Given the description of an element on the screen output the (x, y) to click on. 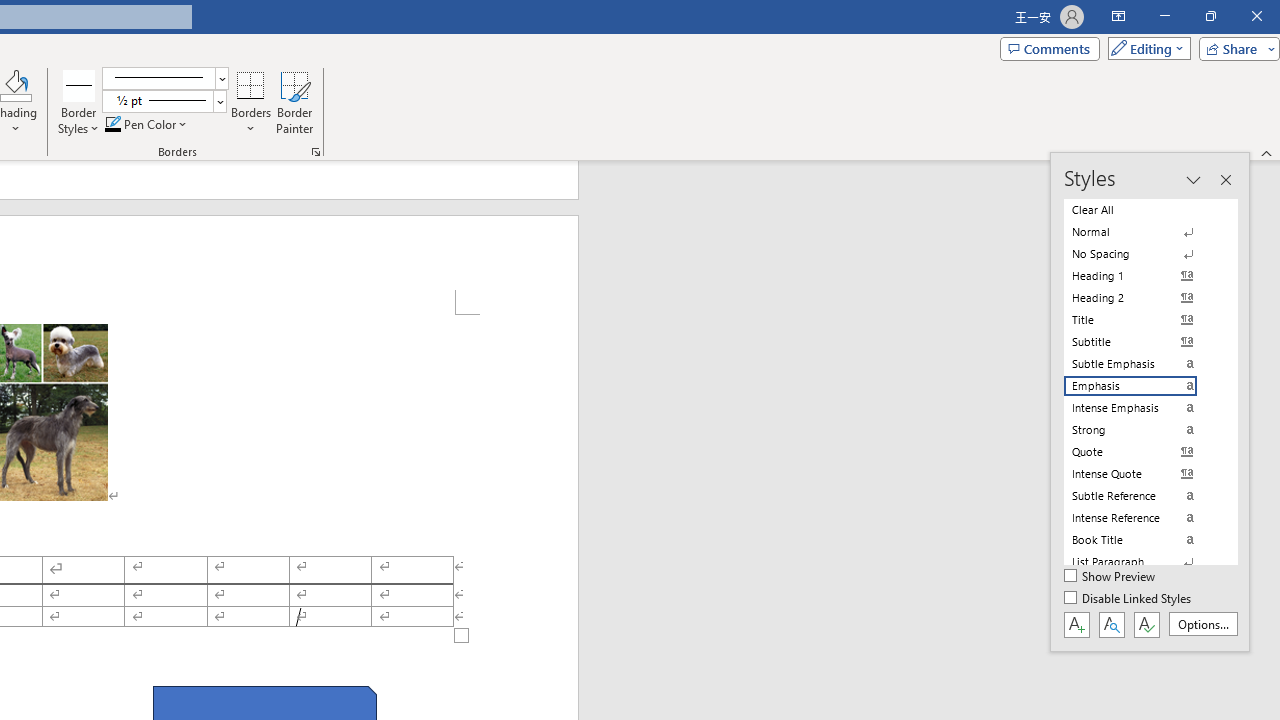
Title (1142, 319)
